Given the description of an element on the screen output the (x, y) to click on. 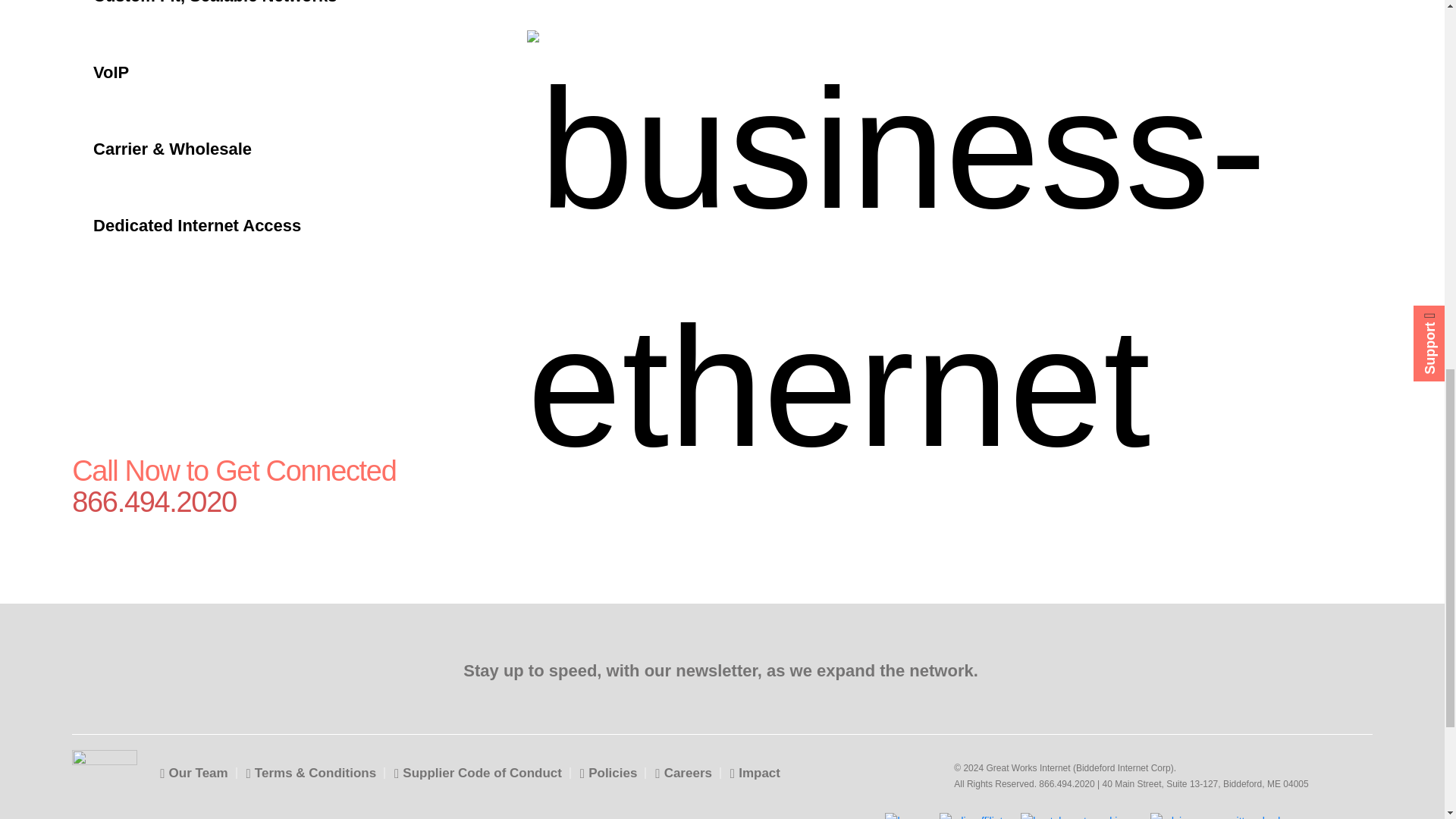
Supplier Code of Conduct (478, 772)
866.494.2020 (266, 502)
Dedicated Internet Access (247, 225)
Careers (683, 772)
Impact (754, 772)
Policies (608, 772)
Custom Fit, Scalable Networks (247, 16)
VoIP (247, 72)
Our Team (193, 772)
